Given the description of an element on the screen output the (x, y) to click on. 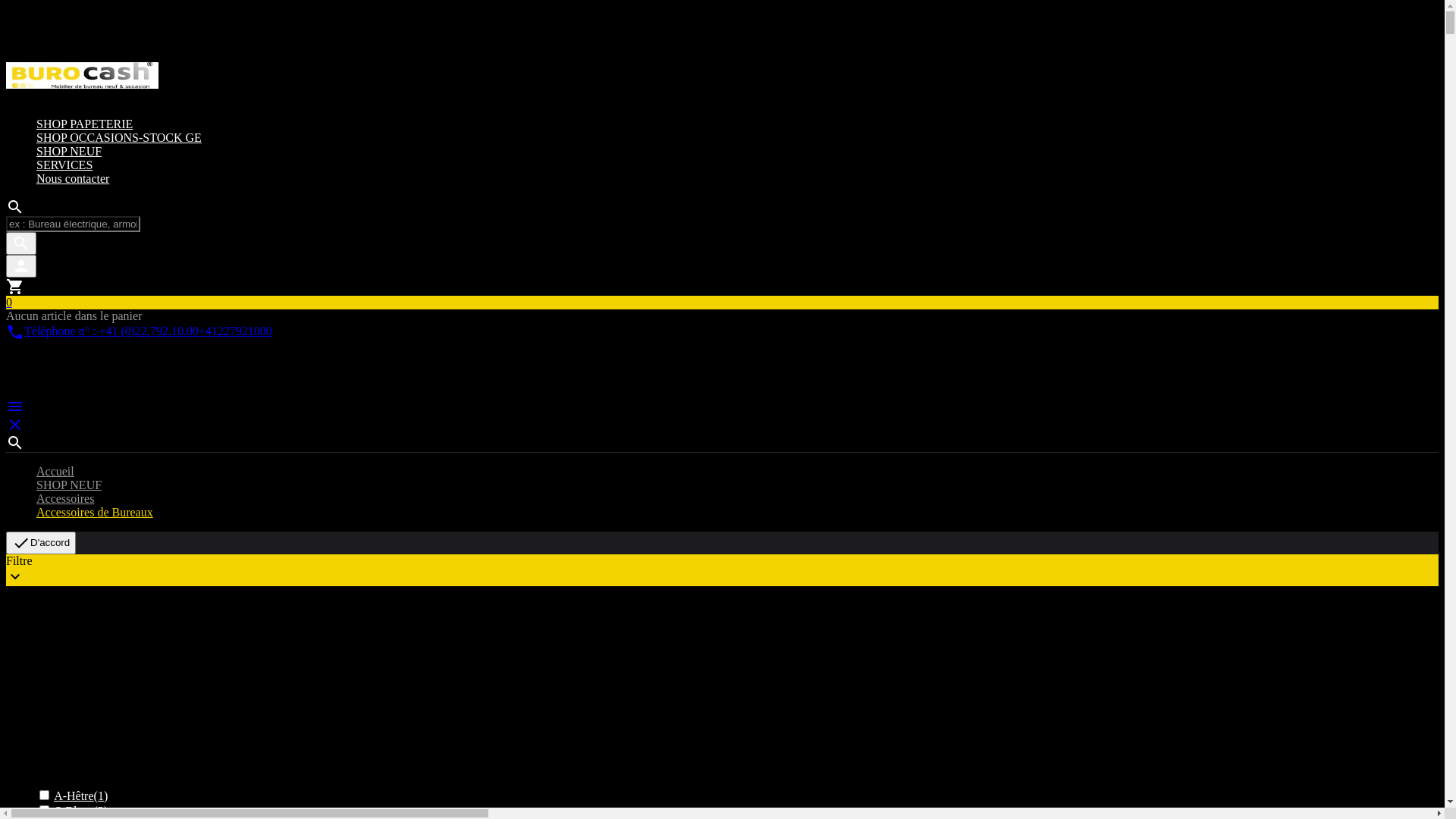
SHOP NEUF Element type: text (68, 484)
Accessoires Element type: text (65, 498)
Accueil Element type: text (55, 470)
SERVICES Element type: text (64, 164)
Accessoires de Bureaux Element type: text (94, 511)
SHOP NEUF Element type: text (68, 150)
Nous contacter Element type: text (72, 178)
SHOP OCCASIONS-STOCK GE Element type: text (118, 137)
SHOP PAPETERIE Element type: text (84, 123)
S-Blanc(3) Element type: text (80, 810)
